Given the description of an element on the screen output the (x, y) to click on. 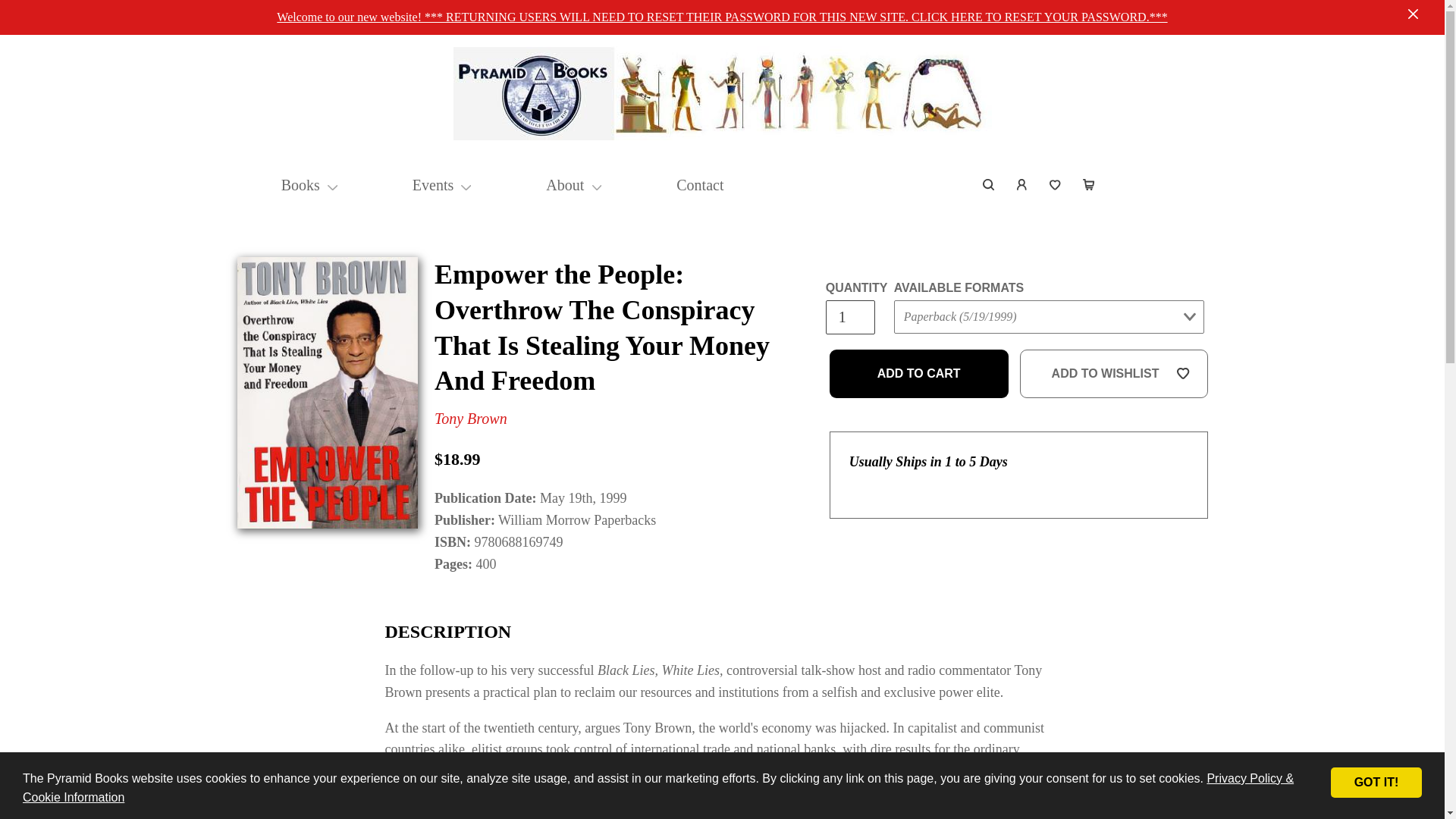
ADD TO WISHLIST (1114, 373)
Log in (1022, 184)
Submit (922, 347)
Wishlists (1055, 184)
Cart (1088, 184)
Contact (699, 184)
Add to cart (919, 373)
Submit (1169, 154)
SEARCH (989, 184)
Wishlist (1055, 184)
1 (850, 317)
Search (989, 184)
Log in (1022, 184)
Tony Brown (469, 418)
